Given the description of an element on the screen output the (x, y) to click on. 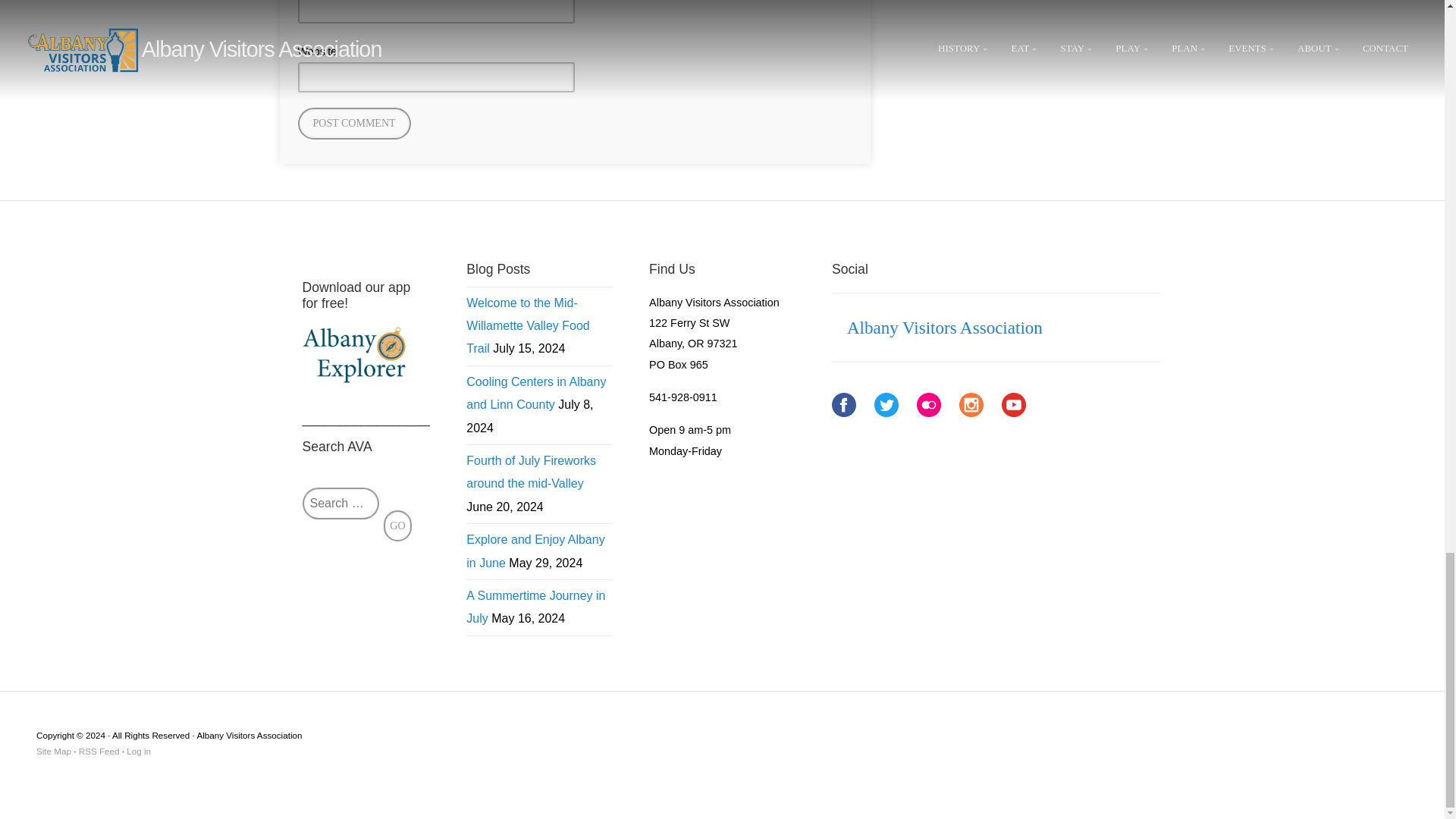
Go (398, 525)
Post Comment (353, 122)
